Given the description of an element on the screen output the (x, y) to click on. 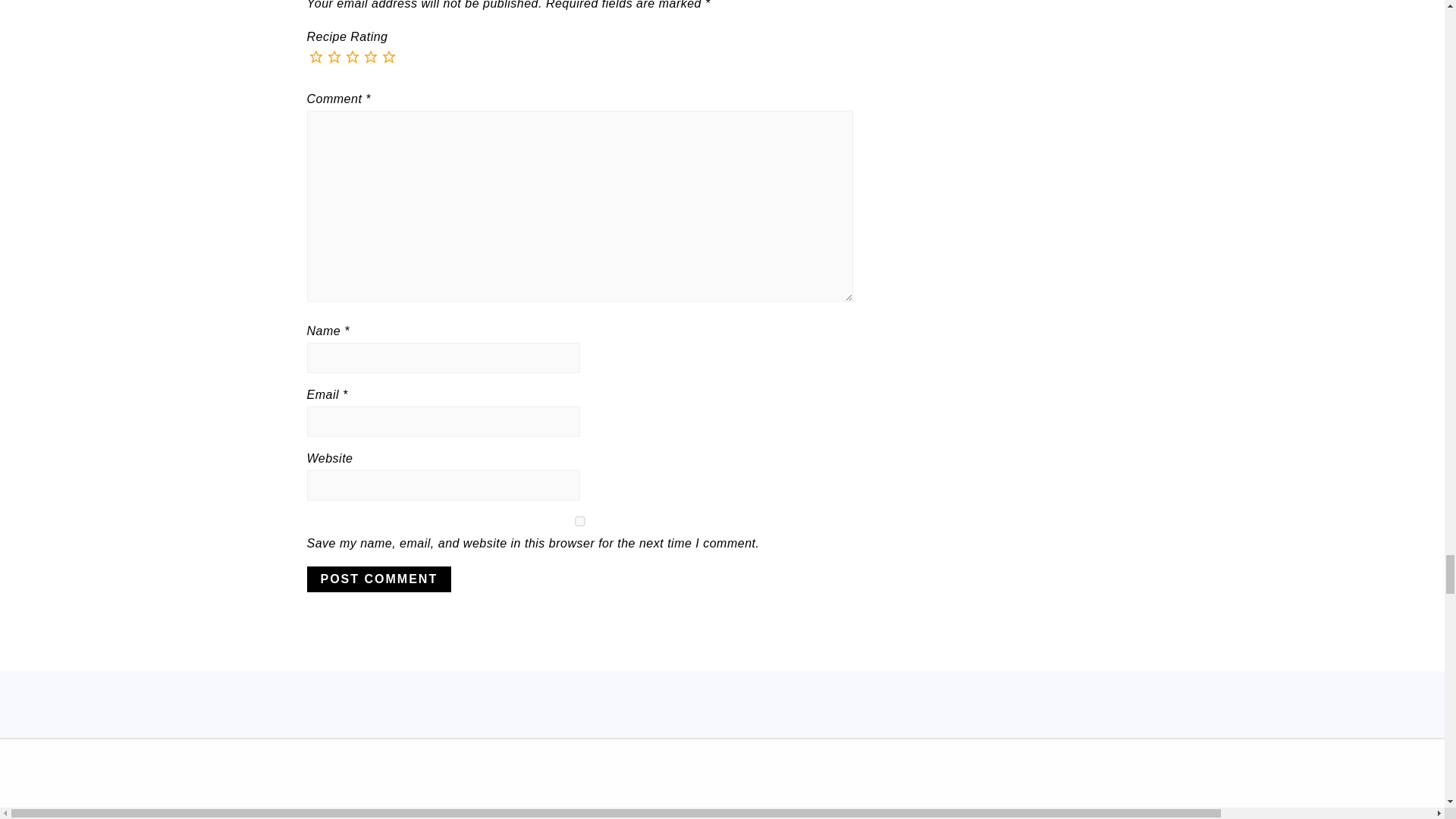
yes (578, 521)
Post Comment (378, 579)
